Given the description of an element on the screen output the (x, y) to click on. 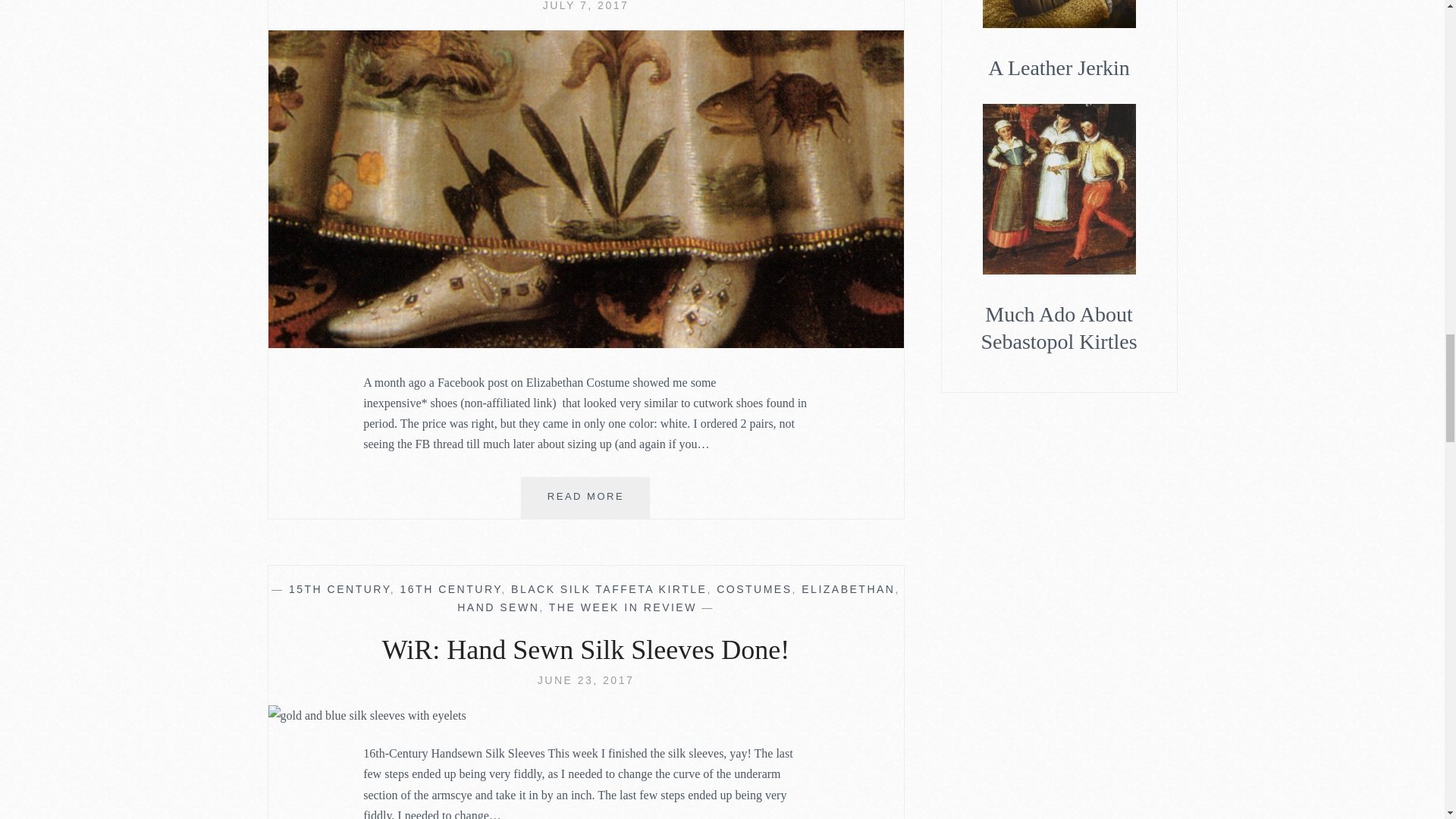
WiR: Hand Sewn Silk Sleeves Done! (366, 714)
16th Century Shoe Hack: Painting Shoes (585, 343)
16th Century Shoe Hack: Painting Shoes (585, 5)
WiR: Hand Sewn Silk Sleeves Done! (585, 680)
JULY 7, 2017 (585, 5)
